Given the description of an element on the screen output the (x, y) to click on. 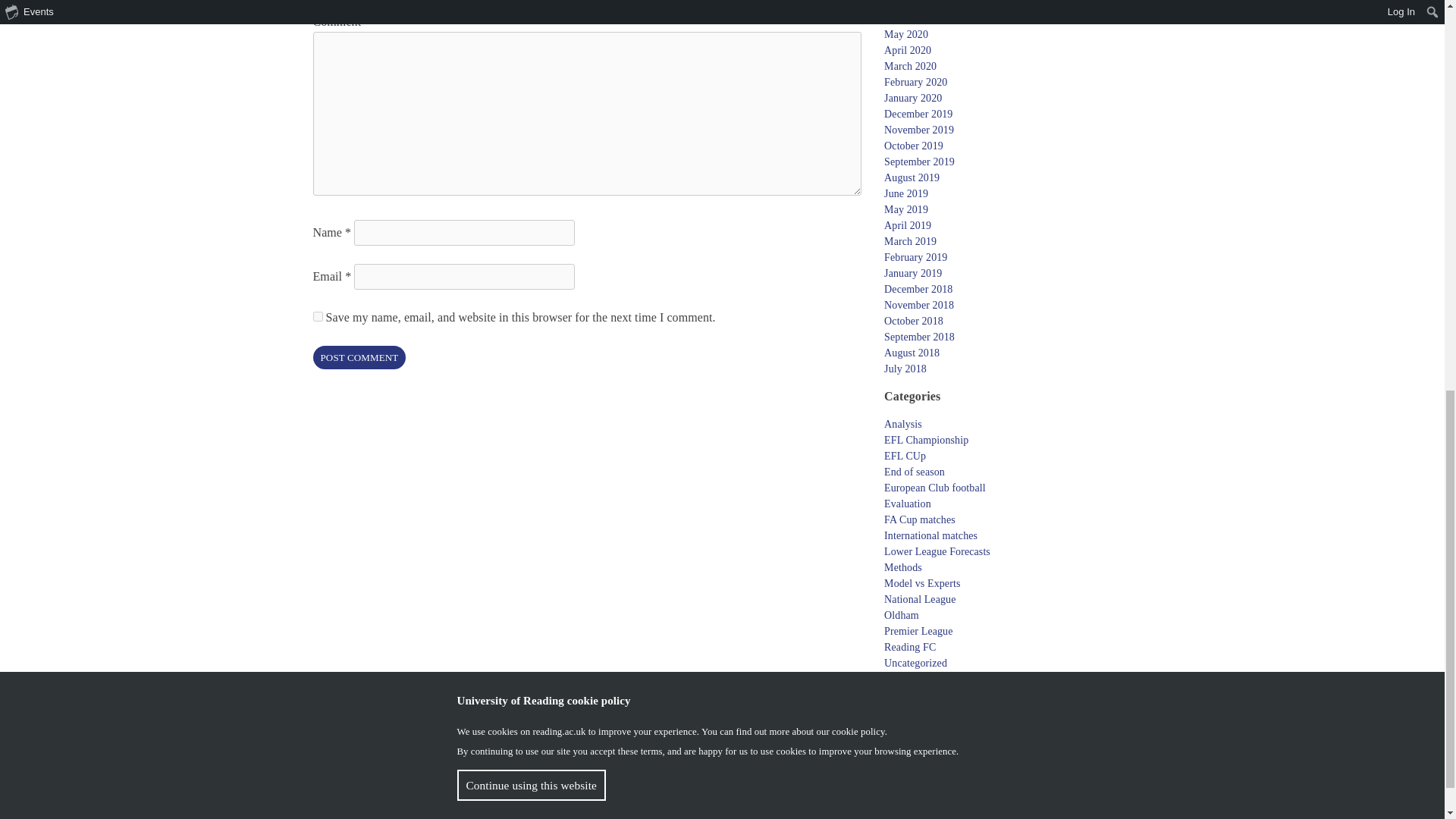
Post Comment (359, 357)
yes (317, 316)
Powered by University of Reading Weblogs (951, 781)
Post Comment (359, 357)
Really Simple Syndication (942, 766)
Syndicate this site using RSS 2.0 (909, 750)
Really Simple Syndication (926, 750)
The latest comments to all posts in RSS (917, 766)
